Given the description of an element on the screen output the (x, y) to click on. 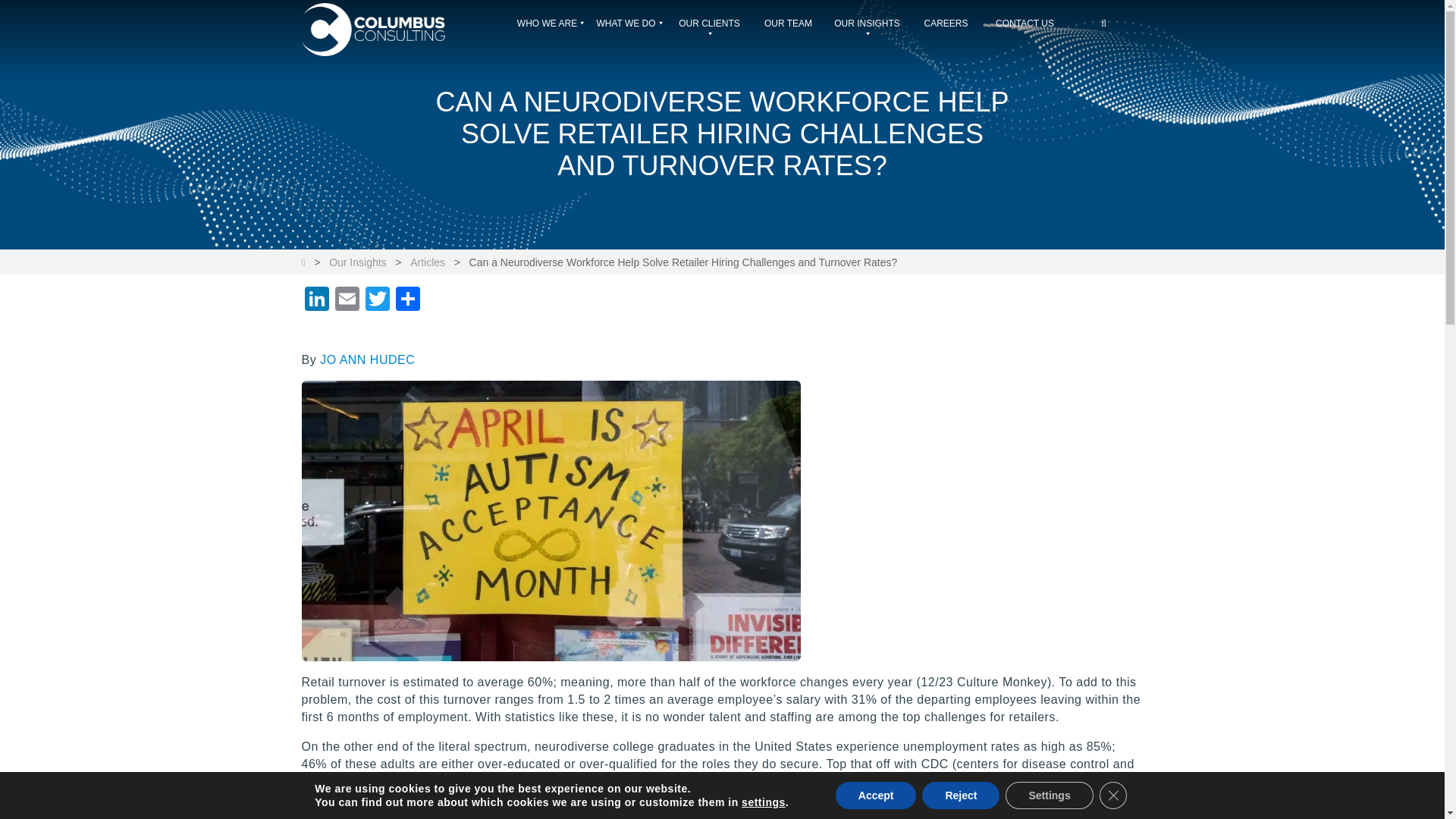
WHAT WE DO (630, 27)
LINKEDIN (316, 300)
OUR CLIENTS (709, 27)
OUR INSIGHTS (867, 27)
CONTACT US (1024, 27)
TWITTER (377, 300)
EMAIL (346, 300)
OUR TEAM (789, 27)
Our Insights (357, 262)
home (393, 33)
